Given the description of an element on the screen output the (x, y) to click on. 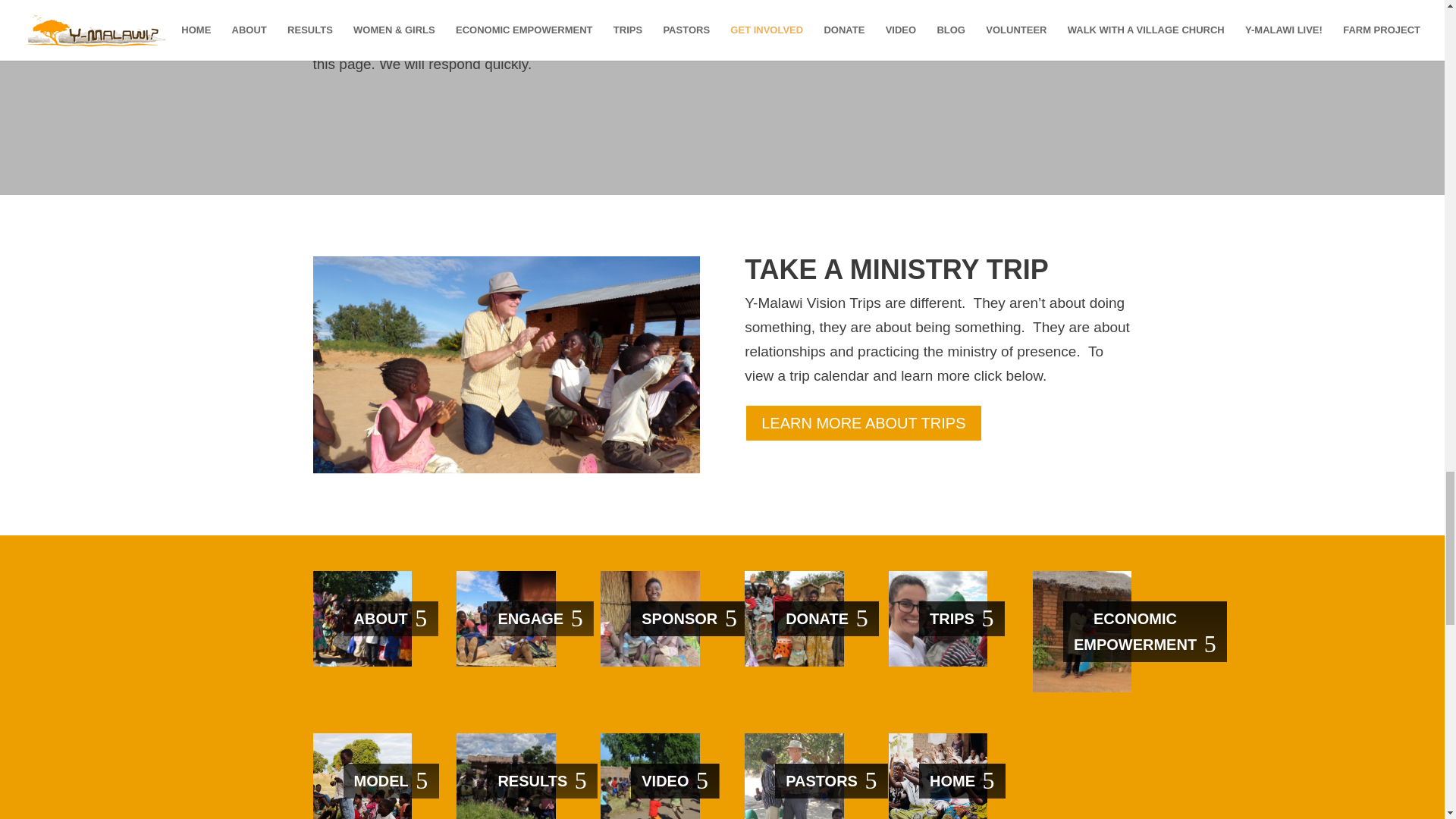
SPONSOR (689, 618)
LEARN MORE ABOUT TRIPS (862, 423)
ENGAGE (540, 618)
Childrens Club (505, 365)
ABOUT (390, 618)
